Given the description of an element on the screen output the (x, y) to click on. 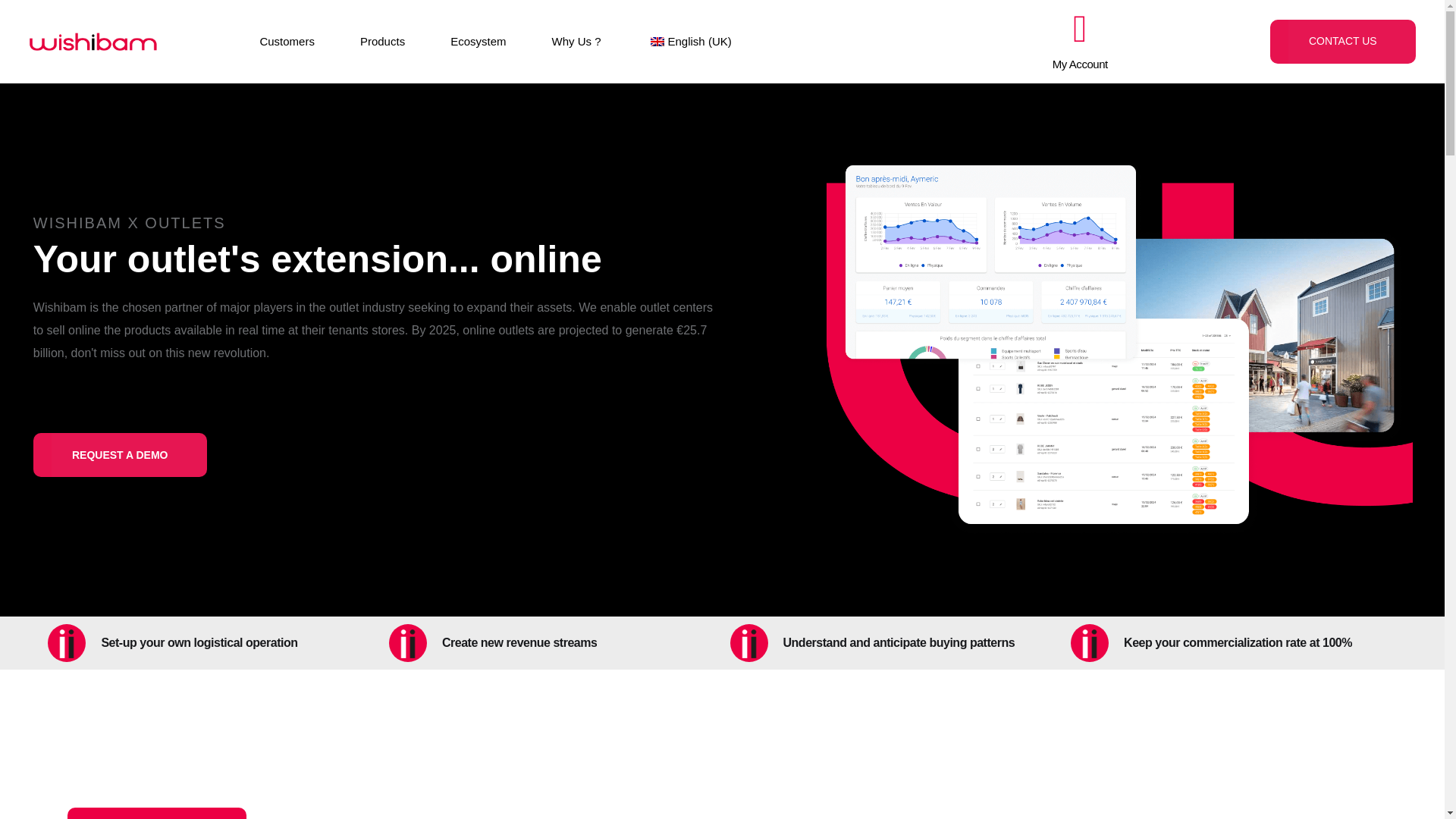
Products (382, 42)
Products (382, 42)
CONTACT US (1342, 41)
Customers (286, 42)
Why Us ? (576, 42)
My Account (1080, 63)
Customers (286, 42)
Ecosystem (478, 42)
